Given the description of an element on the screen output the (x, y) to click on. 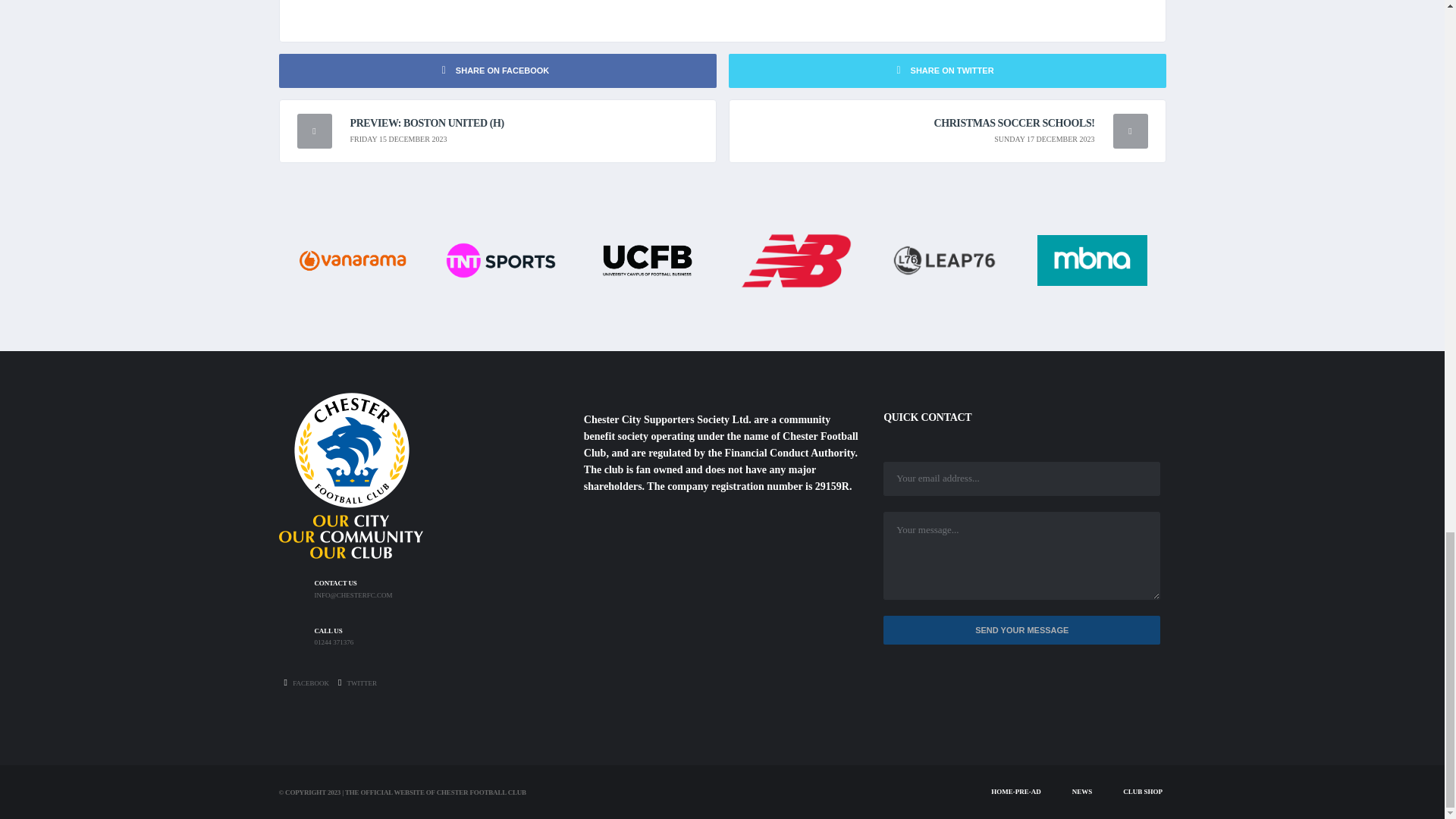
UCFB Logo (647, 259)
Send Your Message (1021, 630)
